Given the description of an element on the screen output the (x, y) to click on. 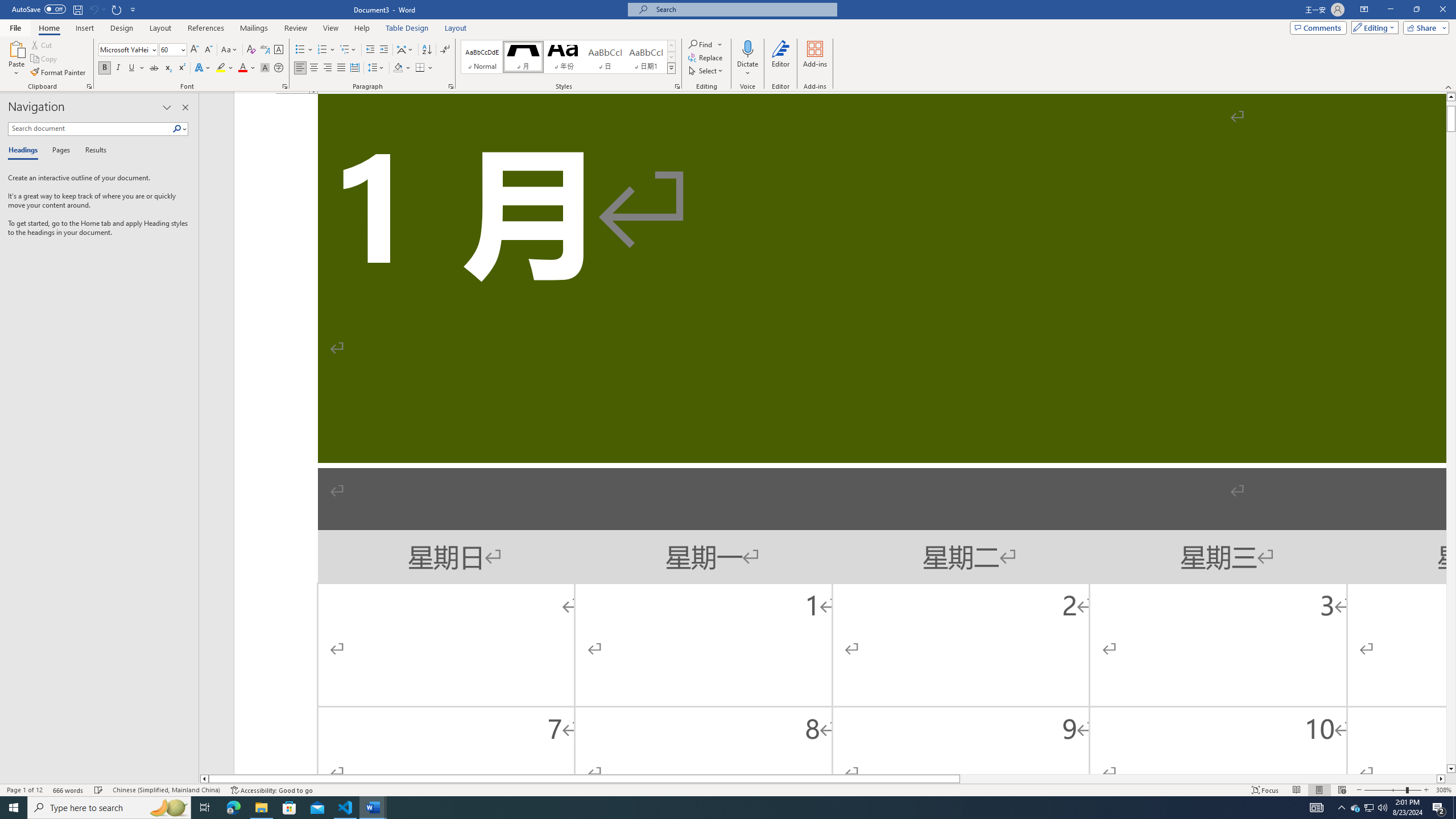
Spelling and Grammar Check Checking (98, 790)
AutomationID: QuickStylesGallery (568, 56)
